Given the description of an element on the screen output the (x, y) to click on. 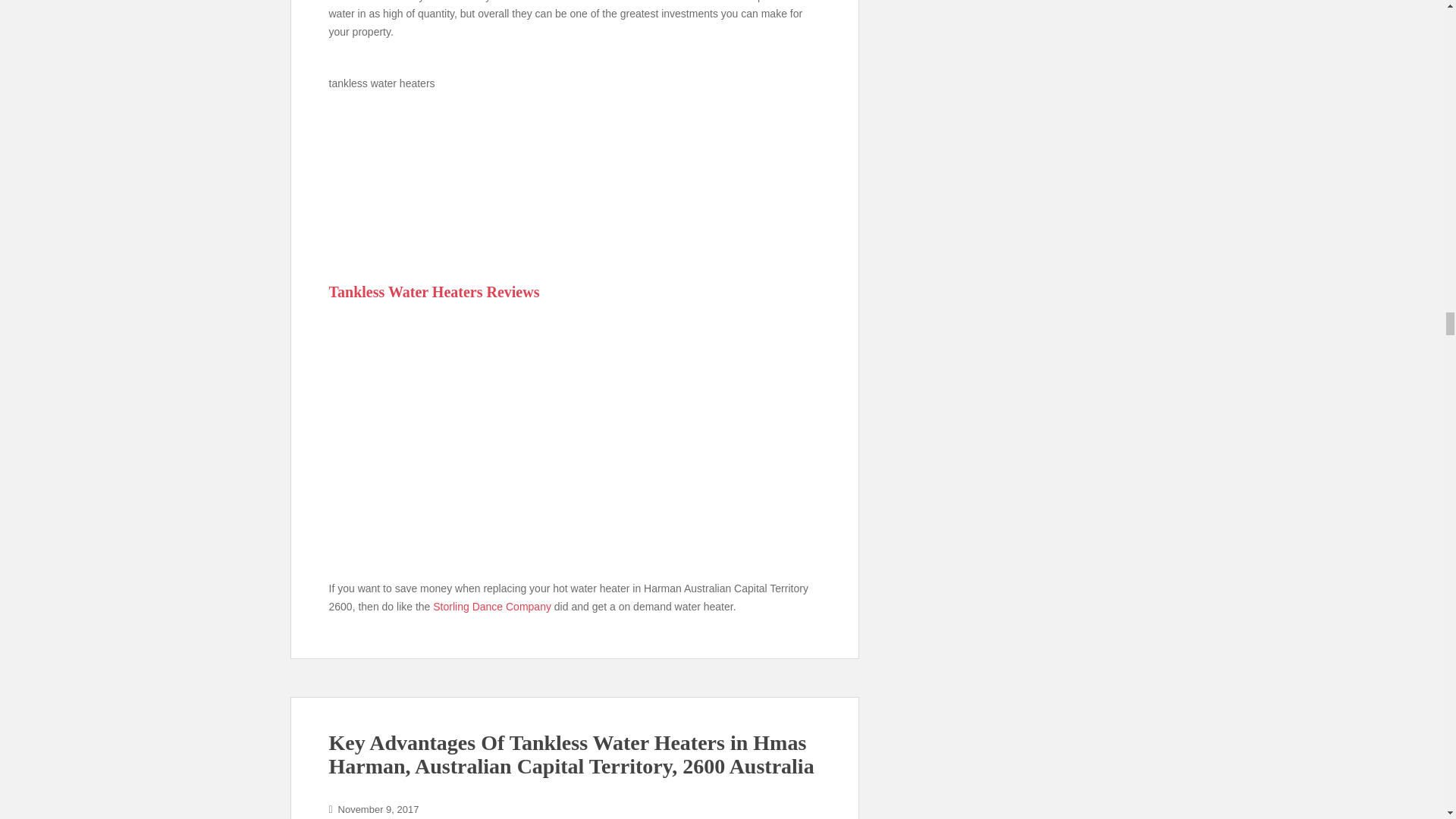
Tankless Water Heaters Reviews (434, 291)
November 9, 2017 (378, 808)
Storling Dance Company (491, 606)
